Given the description of an element on the screen output the (x, y) to click on. 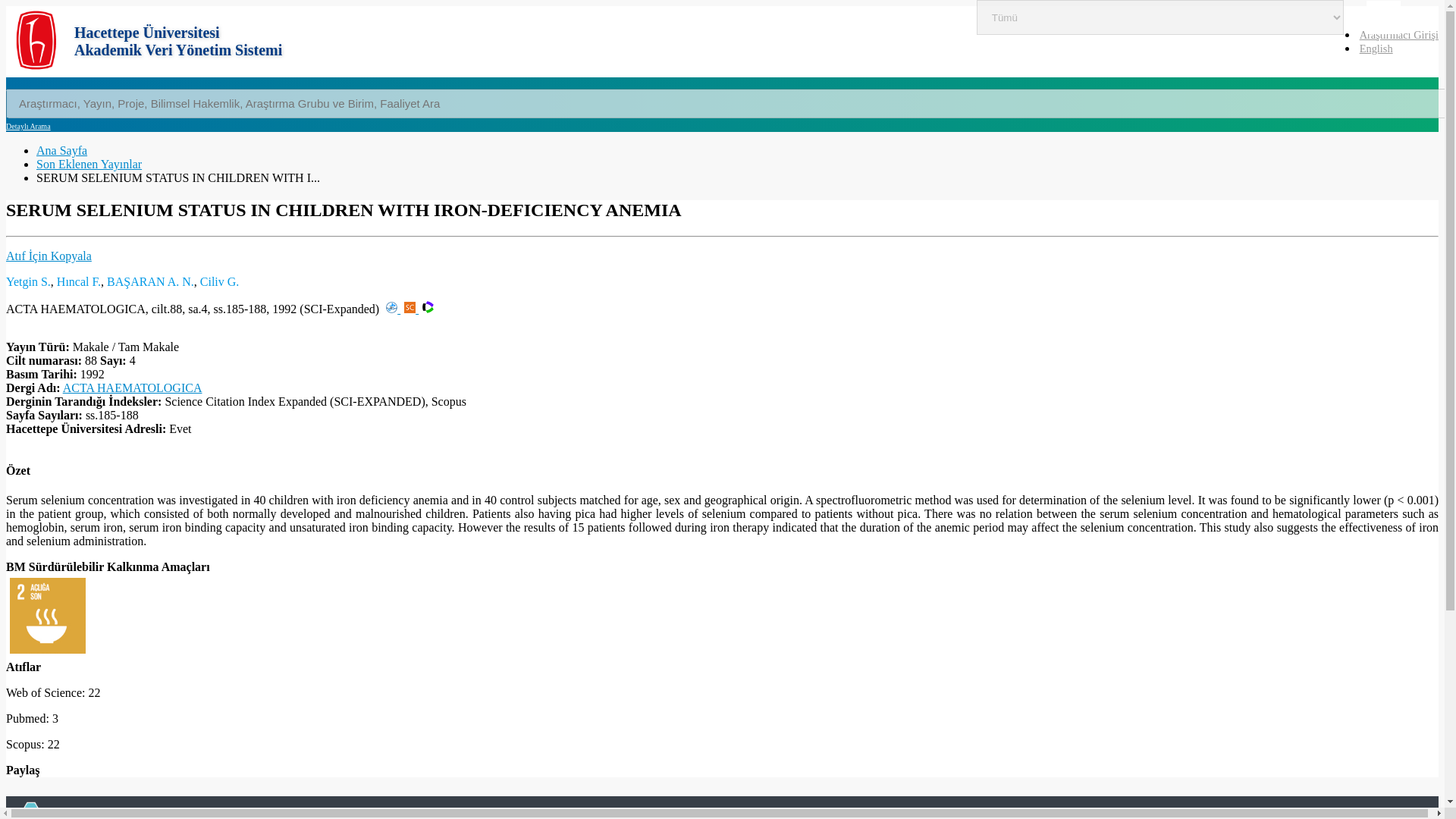
ACTA HAEMATOLOGICA (132, 387)
G Ciliv (220, 281)
Yetgin S. (27, 281)
English (1374, 48)
Ana Sayfa (61, 150)
Ciliv G. (220, 281)
